Given the description of an element on the screen output the (x, y) to click on. 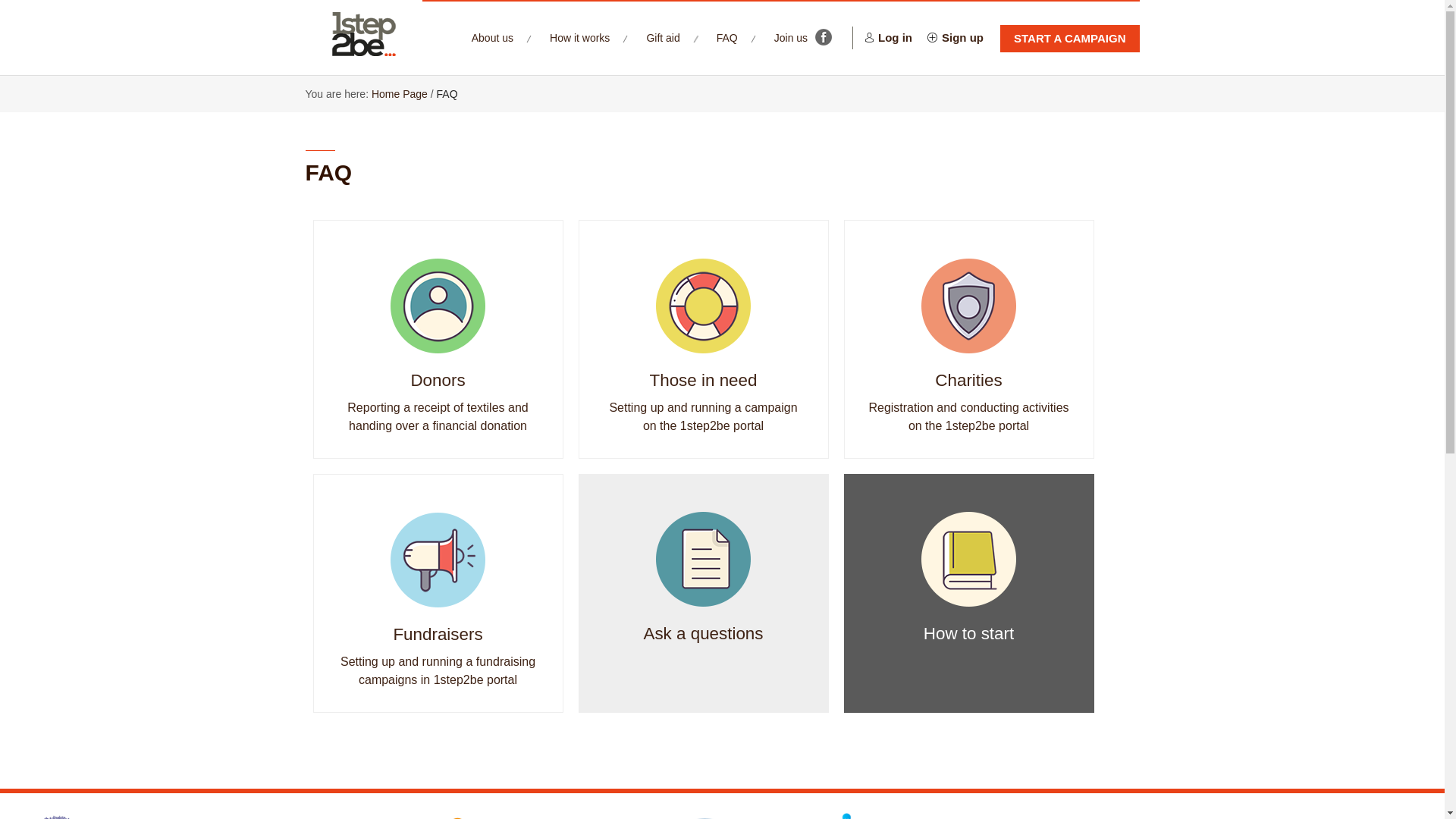
FAQ Element type: text (727, 37)
Sign up Element type: text (955, 37)
Charities Element type: text (968, 379)
Join us Element type: text (798, 37)
Those in need Element type: text (703, 379)
Setting up and running a campaign on the 1step2be portal Element type: text (702, 416)
Gift aid Element type: text (662, 37)
Donors Element type: text (437, 379)
Log in Element type: text (888, 37)
How it works Element type: text (579, 37)
FAQ Element type: text (447, 93)
1step2be - Home Page Element type: hover (362, 34)
Ask a questions Element type: text (702, 633)
Fundraisers Element type: text (437, 633)
Home Page Element type: text (399, 93)
START A CAMPAIGN Element type: text (1069, 38)
How to start Element type: text (968, 633)
About us Element type: text (492, 37)
